Given the description of an element on the screen output the (x, y) to click on. 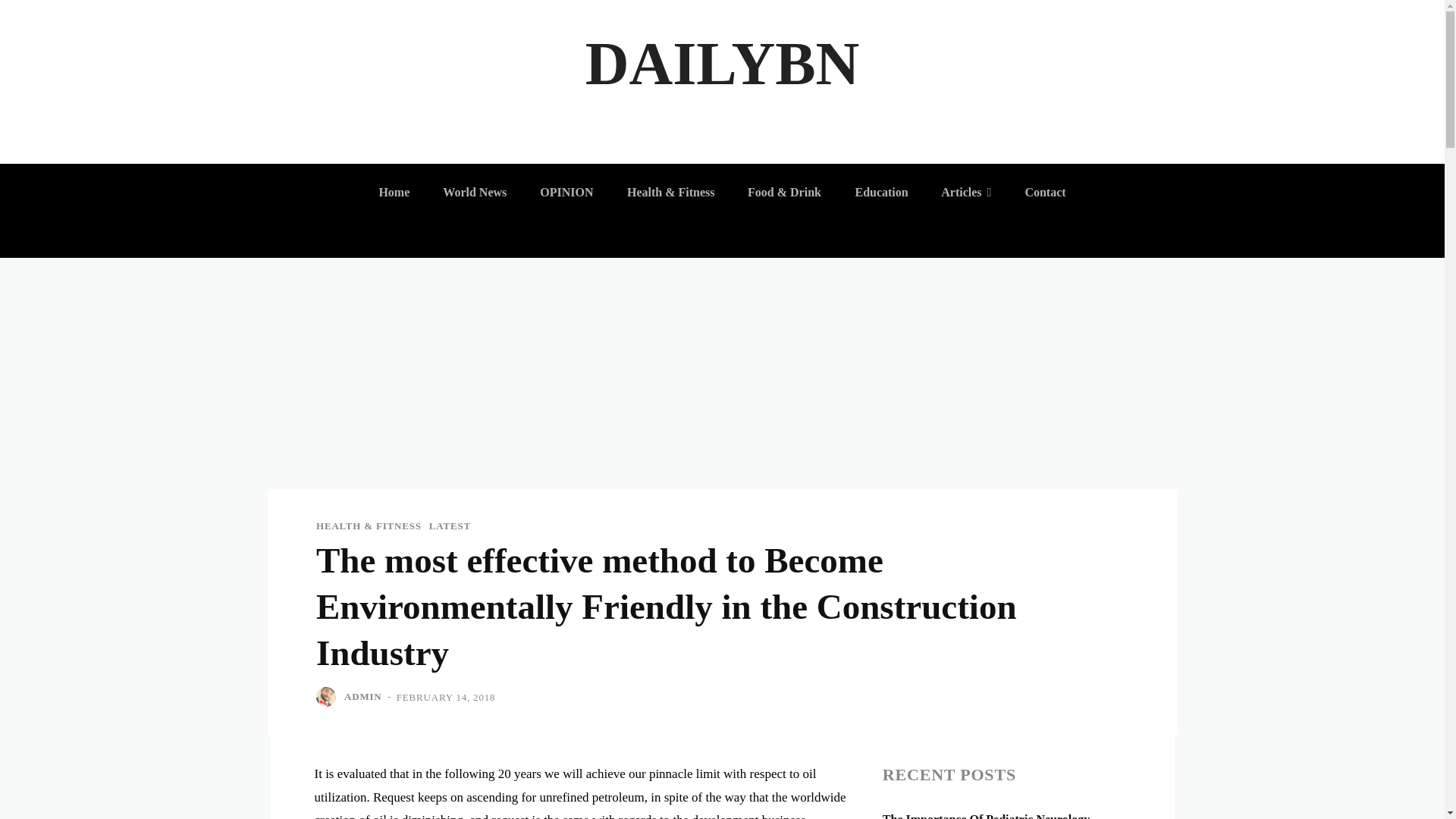
Admin (327, 696)
The Importance Of Pediatric Neurology (985, 816)
ADMIN (362, 696)
LATEST (449, 525)
Contact (1044, 192)
Education (881, 192)
Home (394, 192)
DAILYBN (722, 63)
World News (474, 192)
The Importance Of Pediatric Neurology (985, 816)
